Given the description of an element on the screen output the (x, y) to click on. 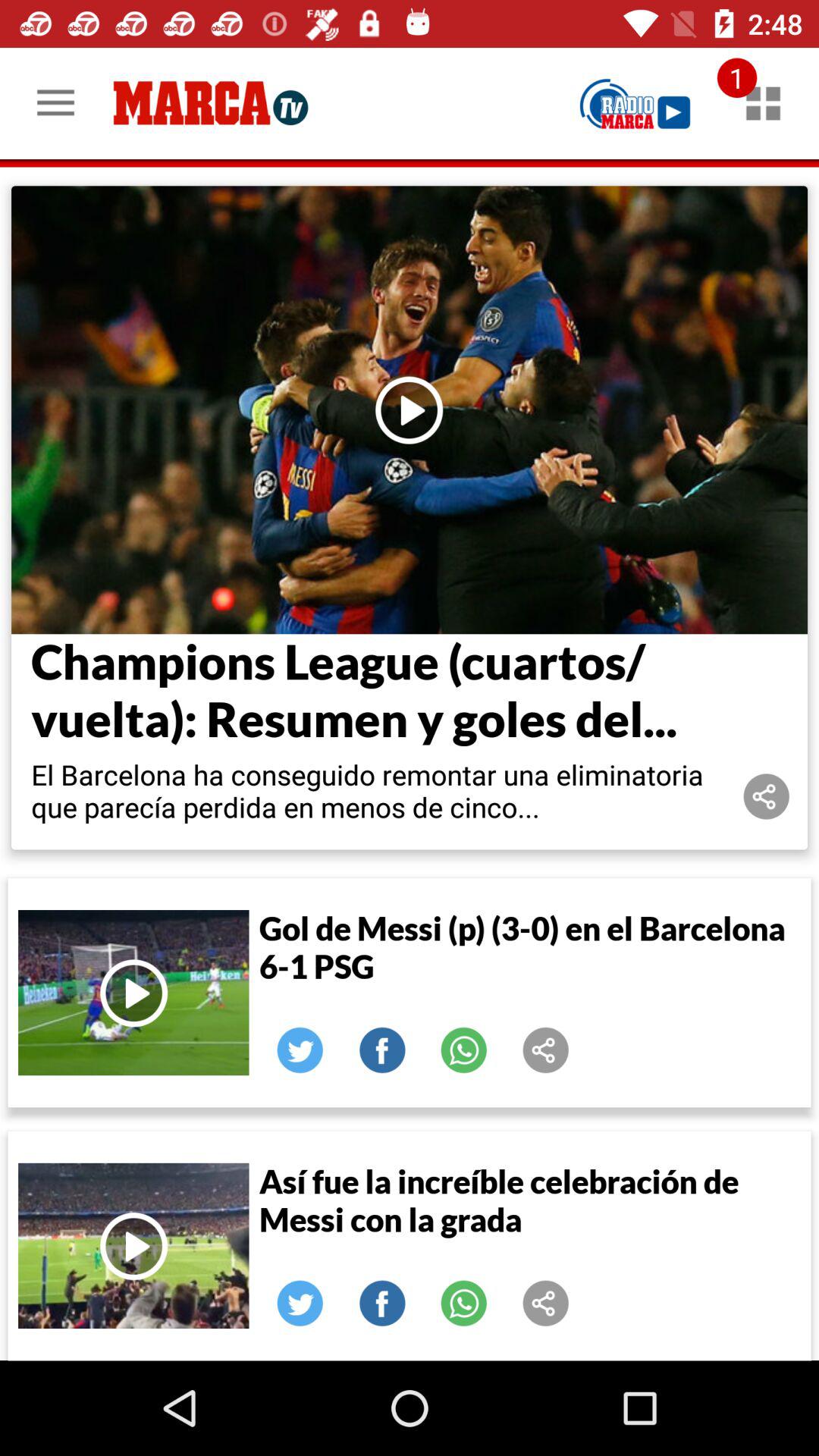
play video (133, 1245)
